Given the description of an element on the screen output the (x, y) to click on. 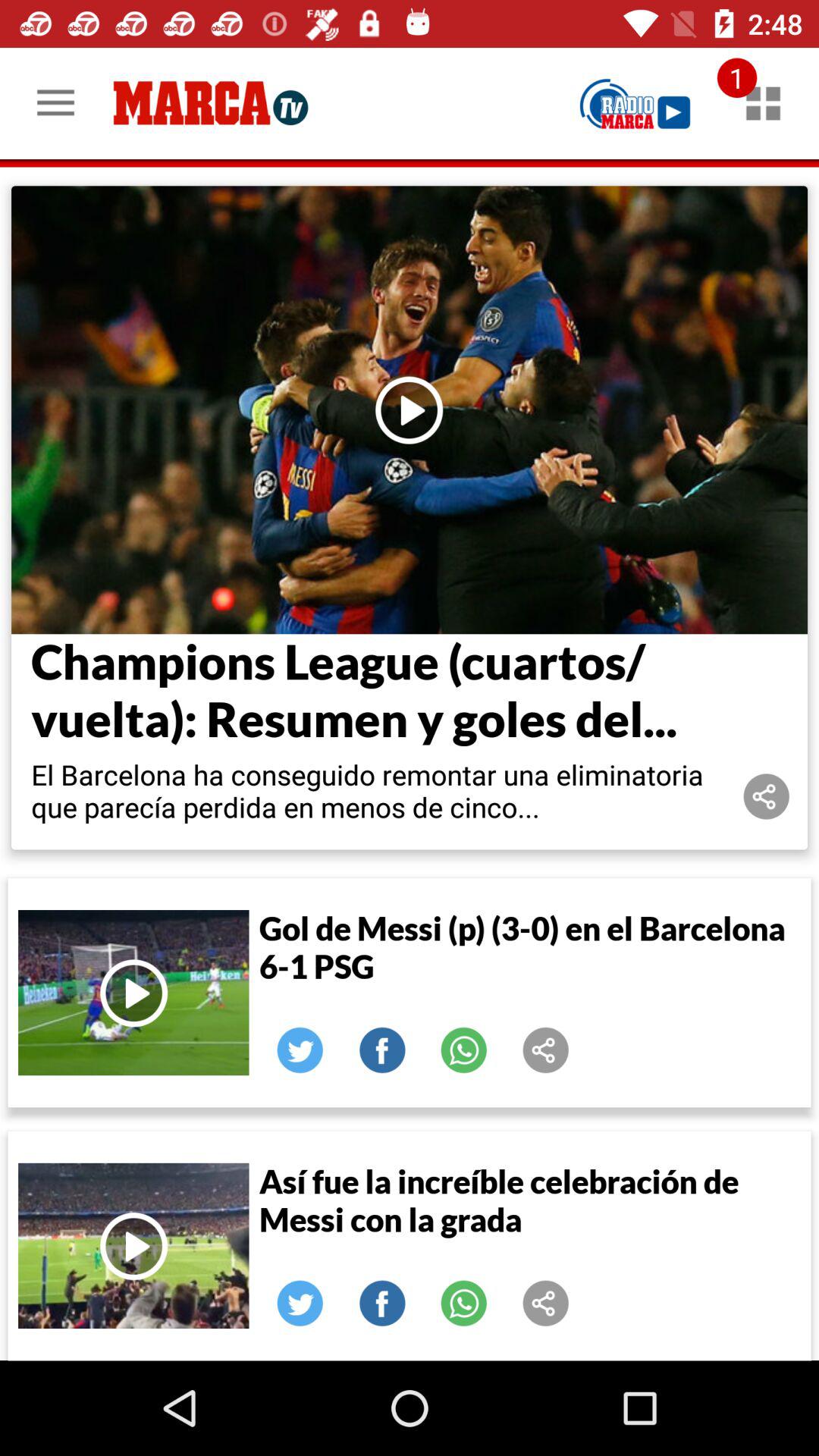
play video (133, 1245)
